Given the description of an element on the screen output the (x, y) to click on. 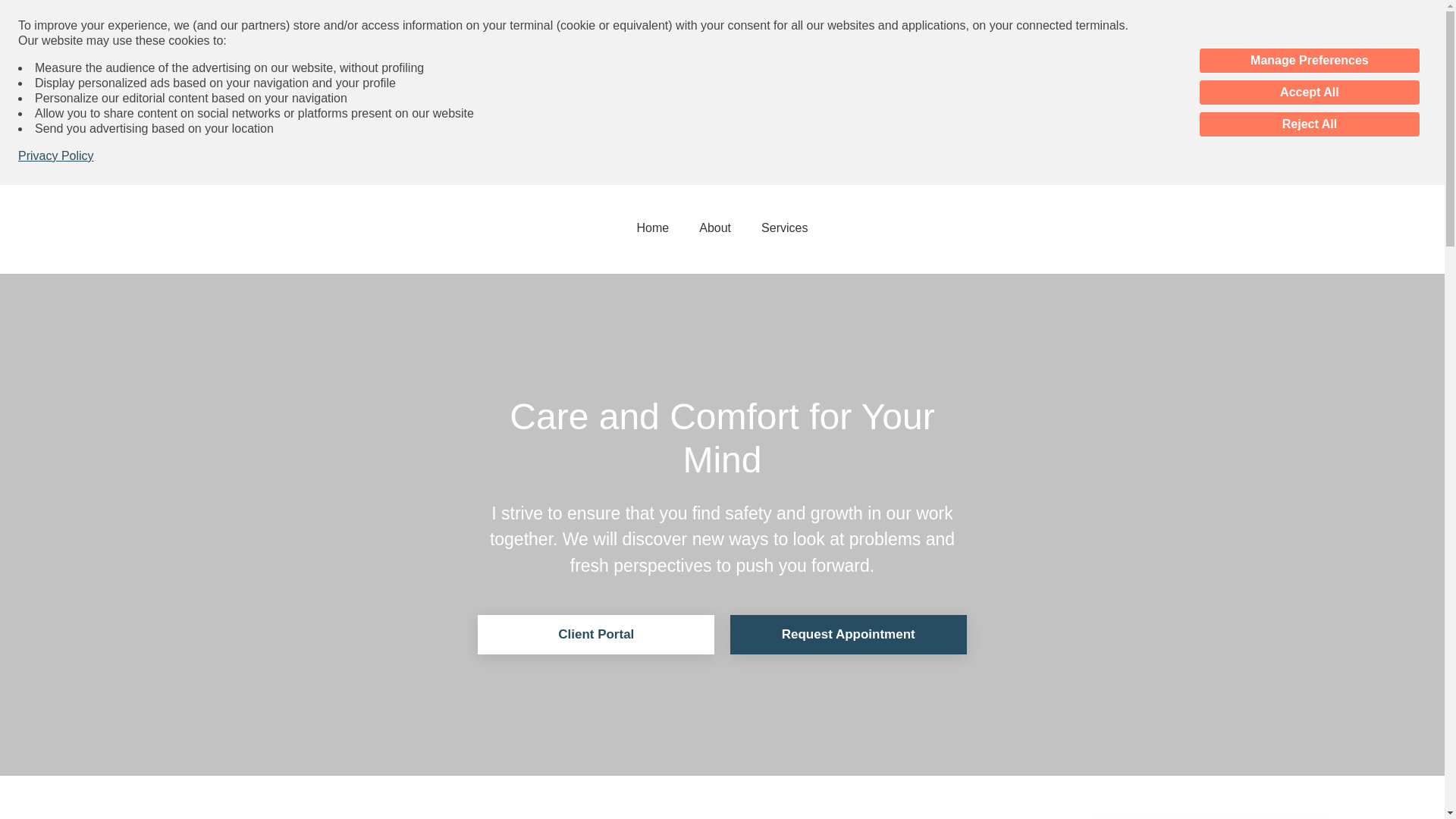
Reject All (1309, 124)
301.291.5183 (716, 170)
Home (652, 227)
Manage Preferences (1309, 60)
Client Portal (595, 634)
Request Appointment (848, 634)
Contact (810, 170)
Services (784, 227)
About (714, 227)
Privacy Policy (55, 155)
